Given the description of an element on the screen output the (x, y) to click on. 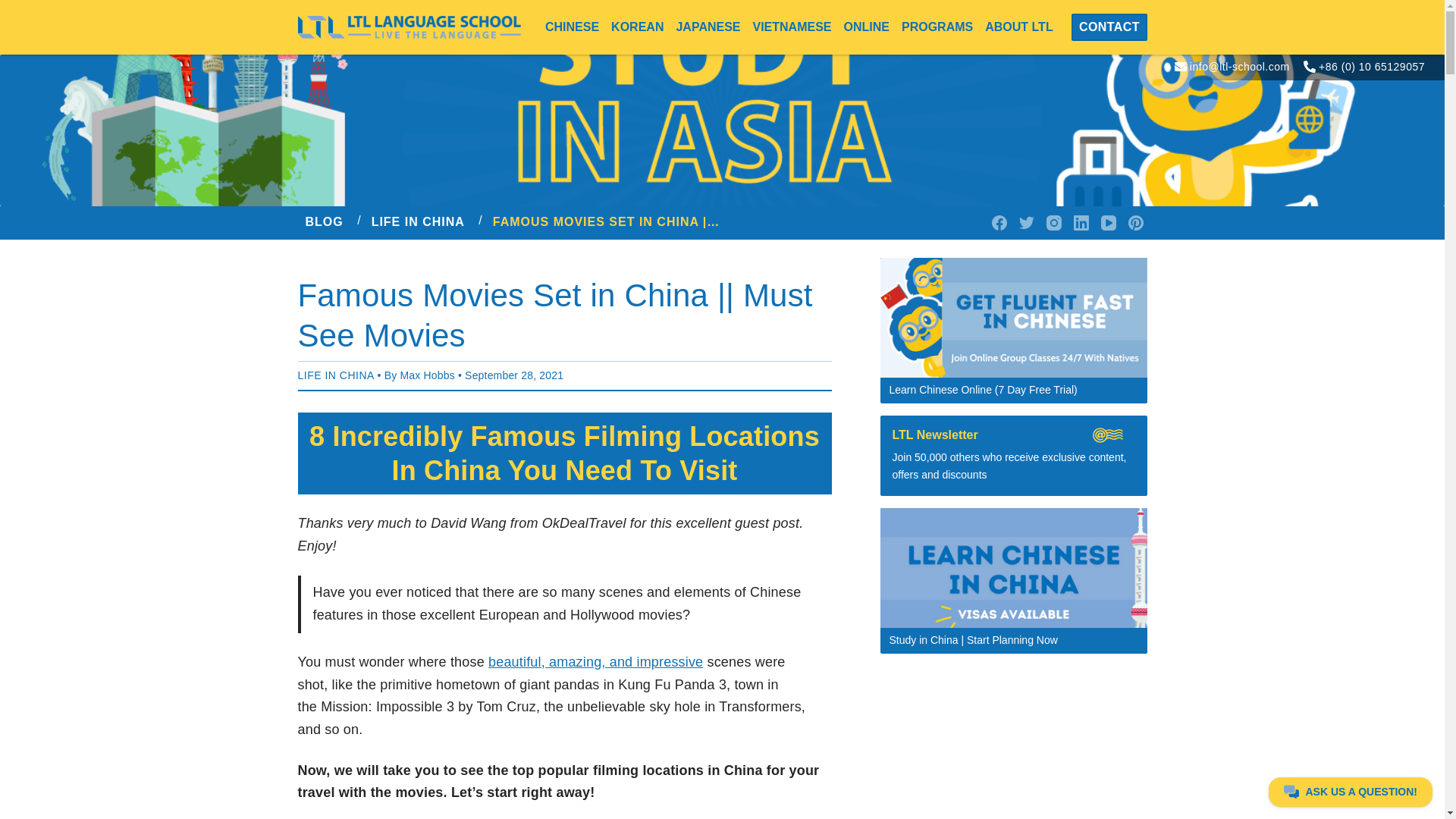
Visit Our Twitter (1026, 222)
Visit Our Instagram (1053, 222)
Visit Our YouTube (1108, 222)
Visit Our Pinterest (1136, 222)
Visit Our Facebook (999, 222)
Visit Our LinkedIn (1081, 222)
